Given the description of an element on the screen output the (x, y) to click on. 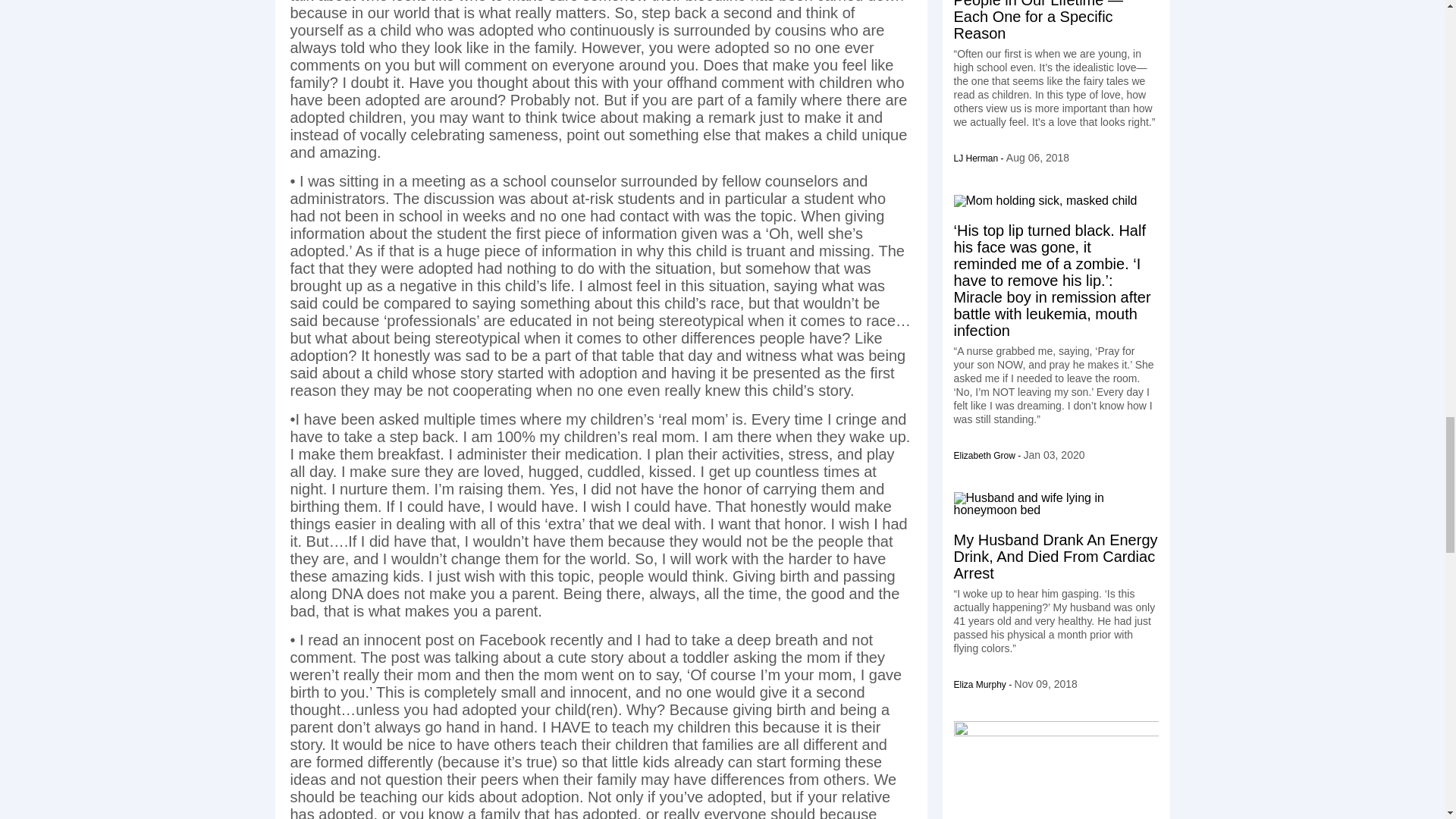
January 3, 2020 (1053, 454)
November 9, 2018 (1045, 684)
August 6, 2018 (1037, 157)
